Given the description of an element on the screen output the (x, y) to click on. 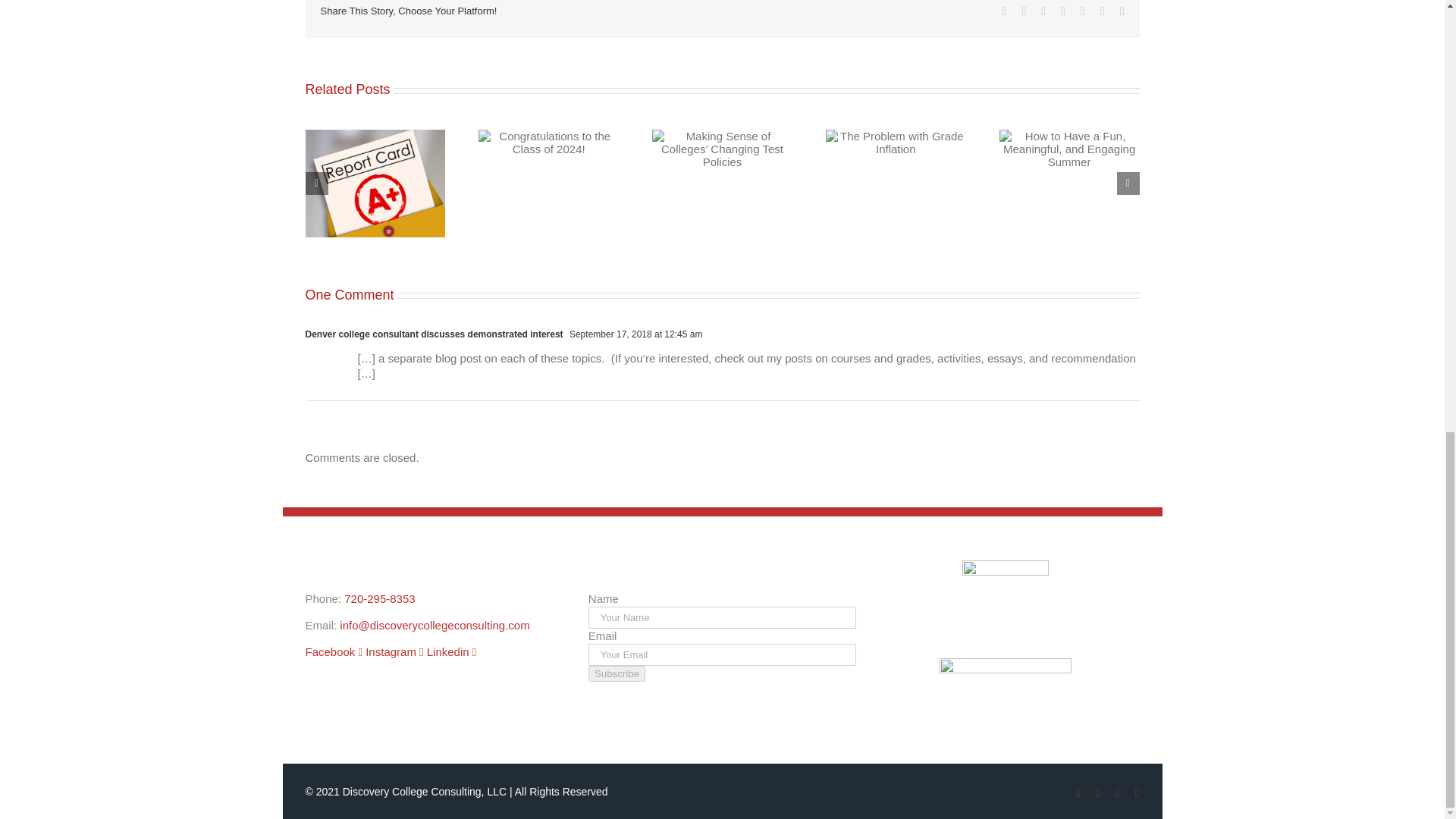
Facebook (1077, 793)
X (1024, 10)
Facebook (1005, 10)
Reddit (1043, 10)
Instagram (1098, 793)
Email (1121, 10)
Tumblr (1082, 10)
Facebook (1005, 10)
X (1024, 10)
Vk (1102, 10)
LinkedIn (1063, 10)
LinkedIn (1117, 793)
